Given the description of an element on the screen output the (x, y) to click on. 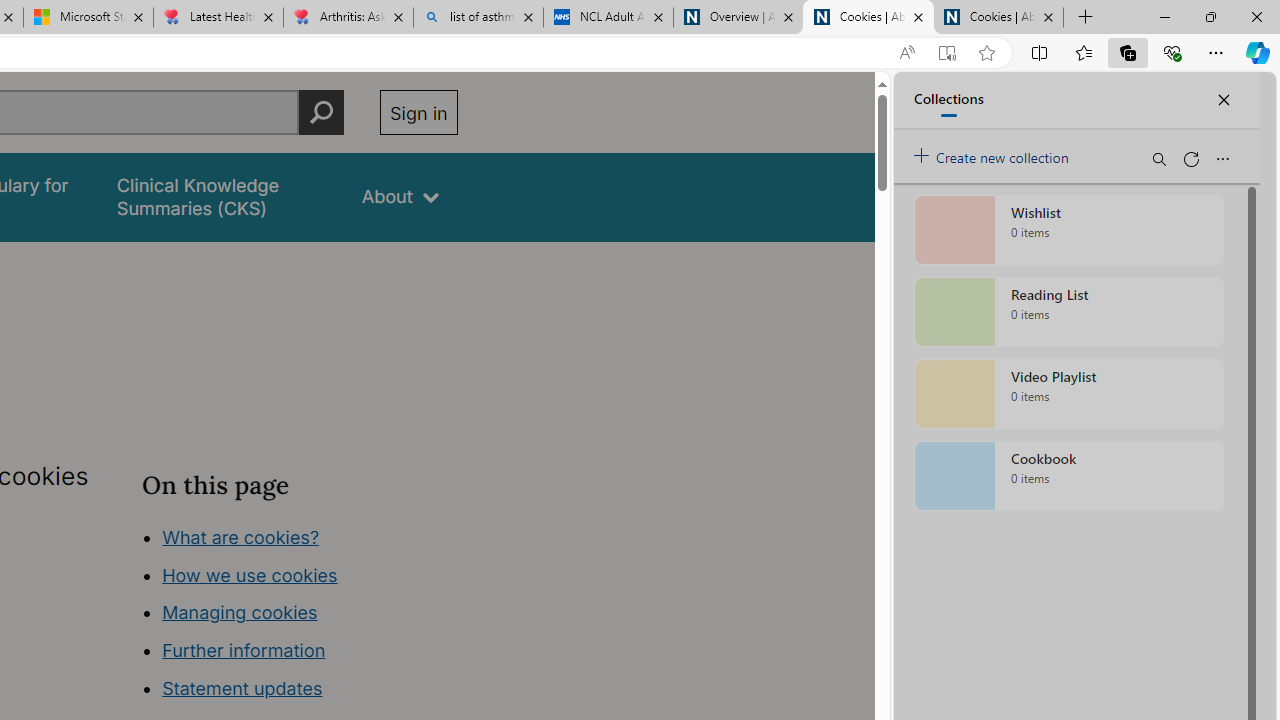
Perform search (321, 112)
Statement updates (242, 688)
list of asthma inhalers uk - Search (477, 17)
Managing cookies (239, 612)
About (400, 196)
Cookies | About | NICE (998, 17)
How we use cookies (249, 574)
Arthritis: Ask Health Professionals (348, 17)
